Given the description of an element on the screen output the (x, y) to click on. 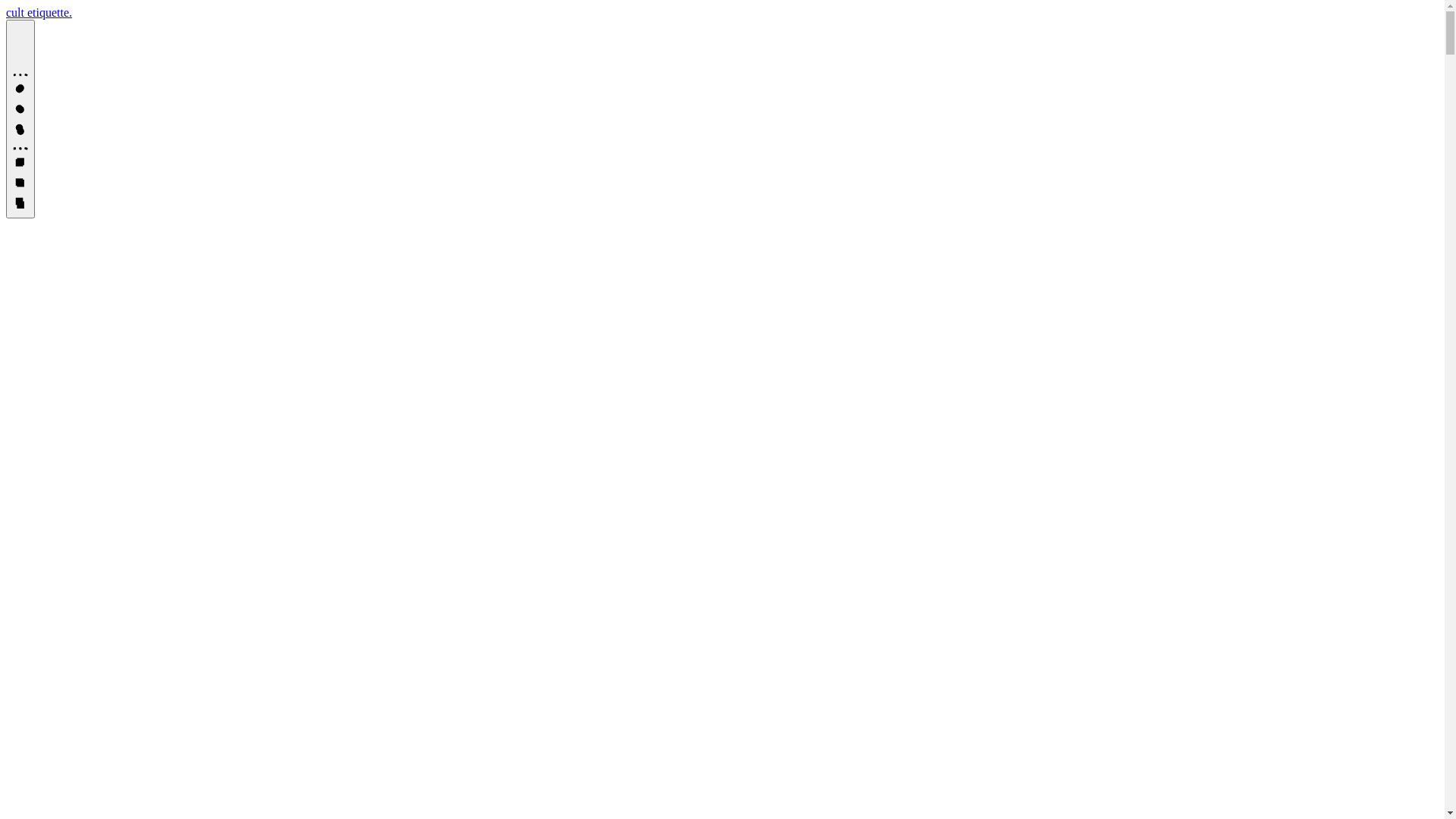
cult etiquette. Element type: text (39, 12)
